Given the description of an element on the screen output the (x, y) to click on. 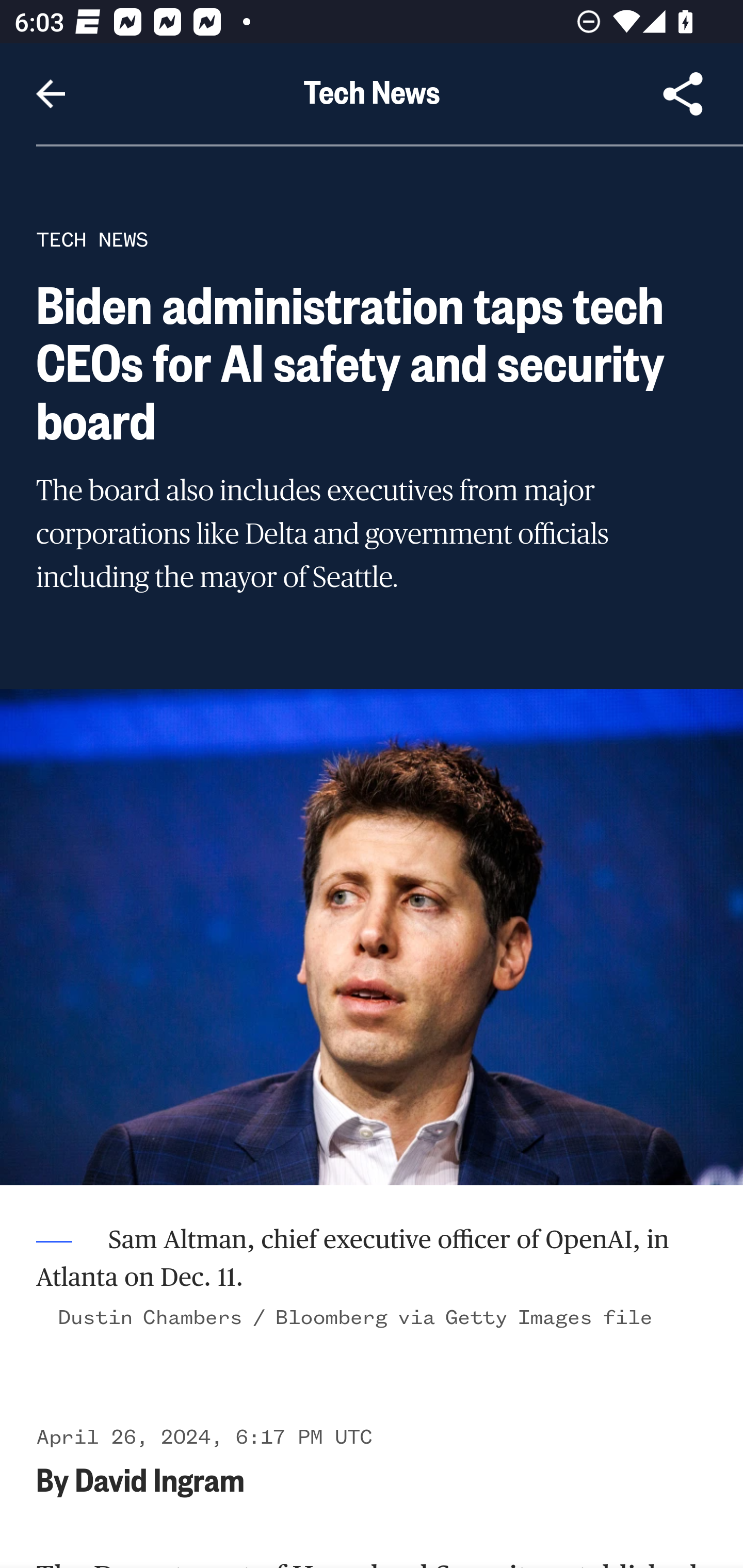
Navigate up (50, 93)
Share Article, button (683, 94)
